Given the description of an element on the screen output the (x, y) to click on. 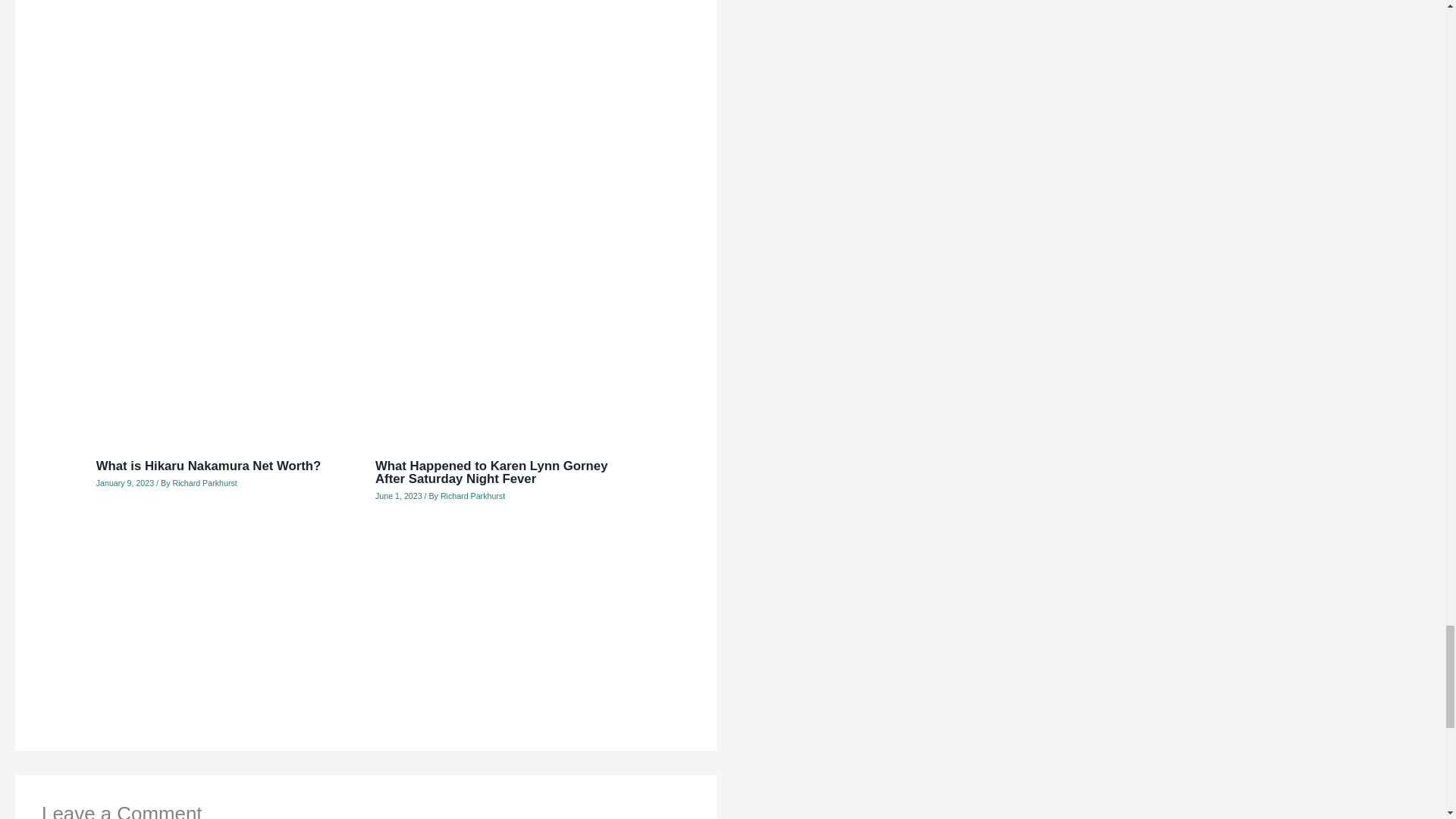
Richard Parkhurst (473, 495)
Richard Parkhurst (203, 482)
What is Hikaru Nakamura Net Worth? (208, 465)
View all posts by Richard Parkhurst (473, 495)
View all posts by Richard Parkhurst (203, 482)
